Given the description of an element on the screen output the (x, y) to click on. 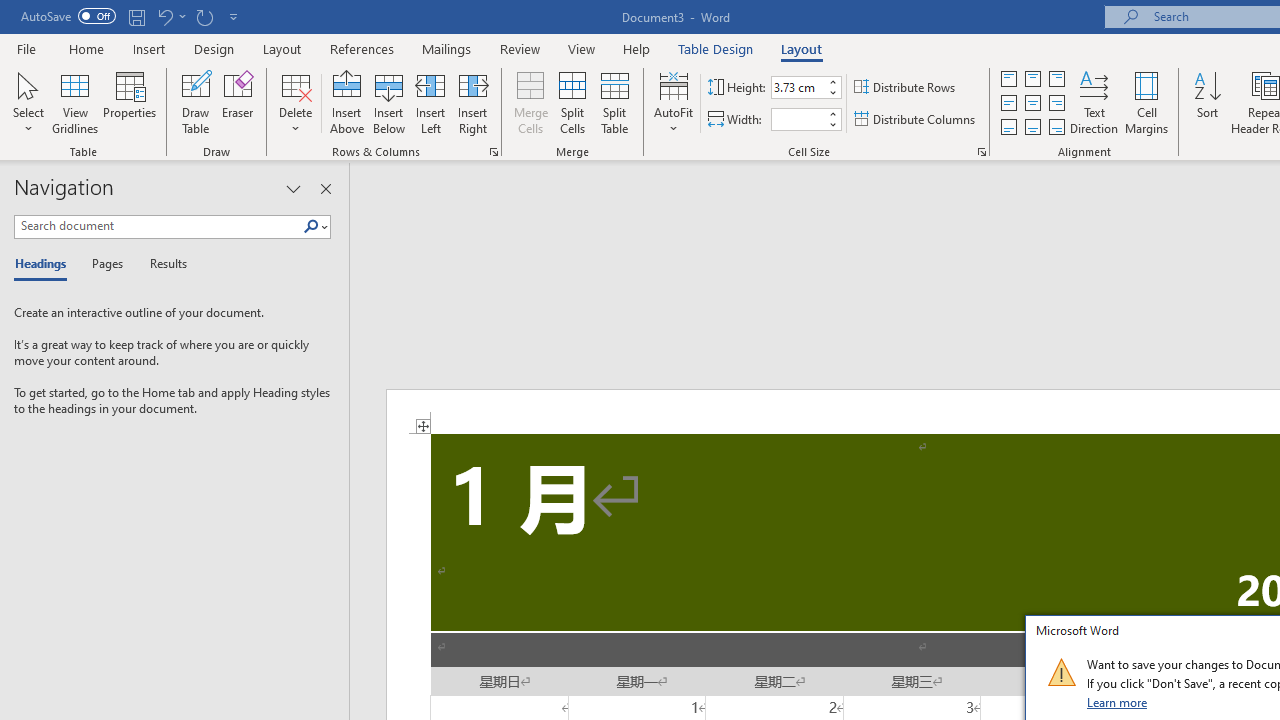
Align Center Right (1056, 103)
Align Top Justified (1009, 78)
Align Bottom Center (1032, 126)
Repeat Doc Close (204, 15)
